Given the description of an element on the screen output the (x, y) to click on. 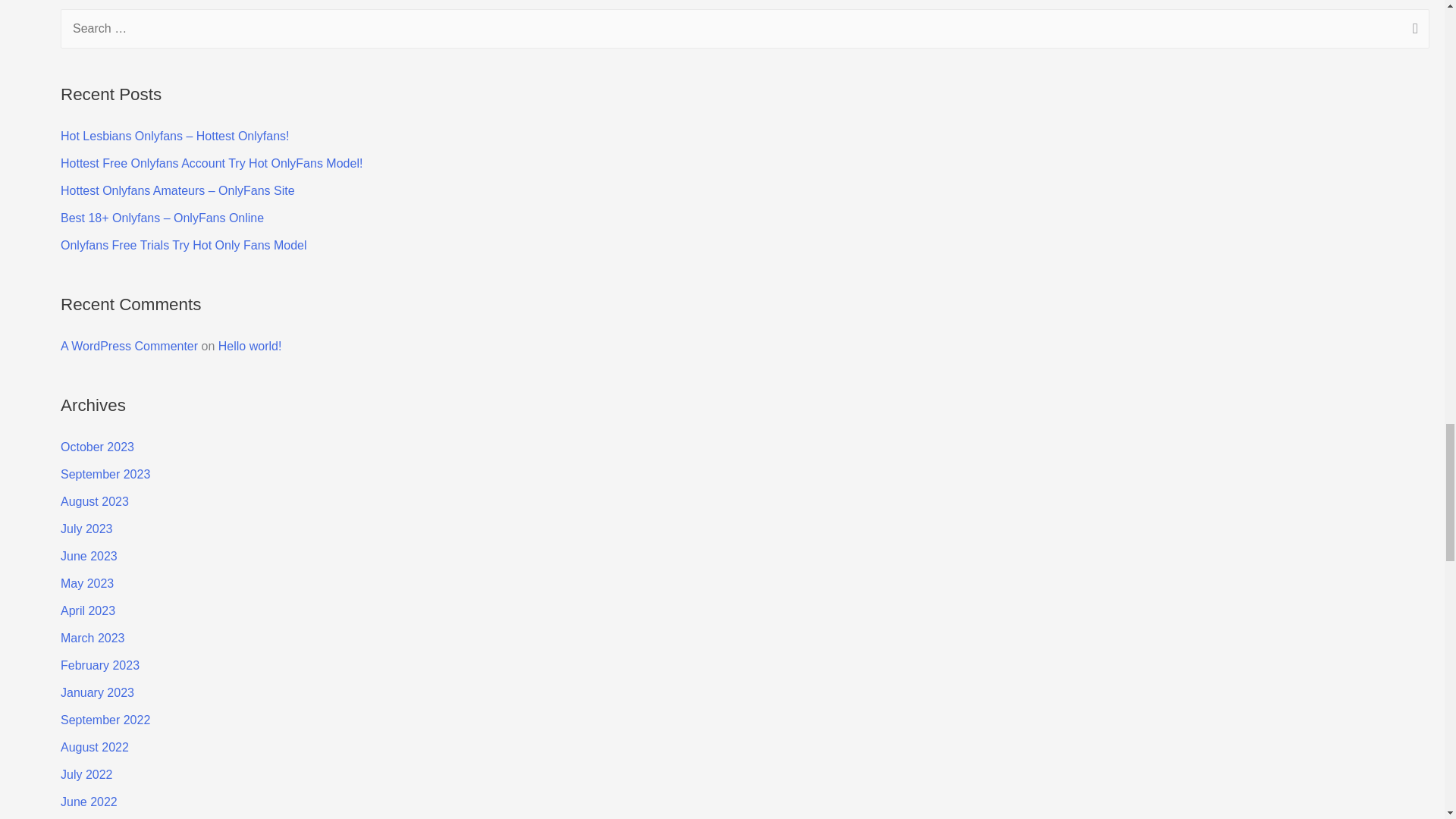
Hello world! (250, 345)
June 2023 (89, 555)
A WordPress Commenter (129, 345)
September 2023 (105, 473)
October 2023 (97, 446)
August 2023 (95, 501)
May 2023 (87, 583)
Hottest Free Onlyfans Account Try Hot OnlyFans Model! (211, 163)
Onlyfans Free Trials Try Hot Only Fans Model (184, 245)
July 2023 (87, 528)
